Given the description of an element on the screen output the (x, y) to click on. 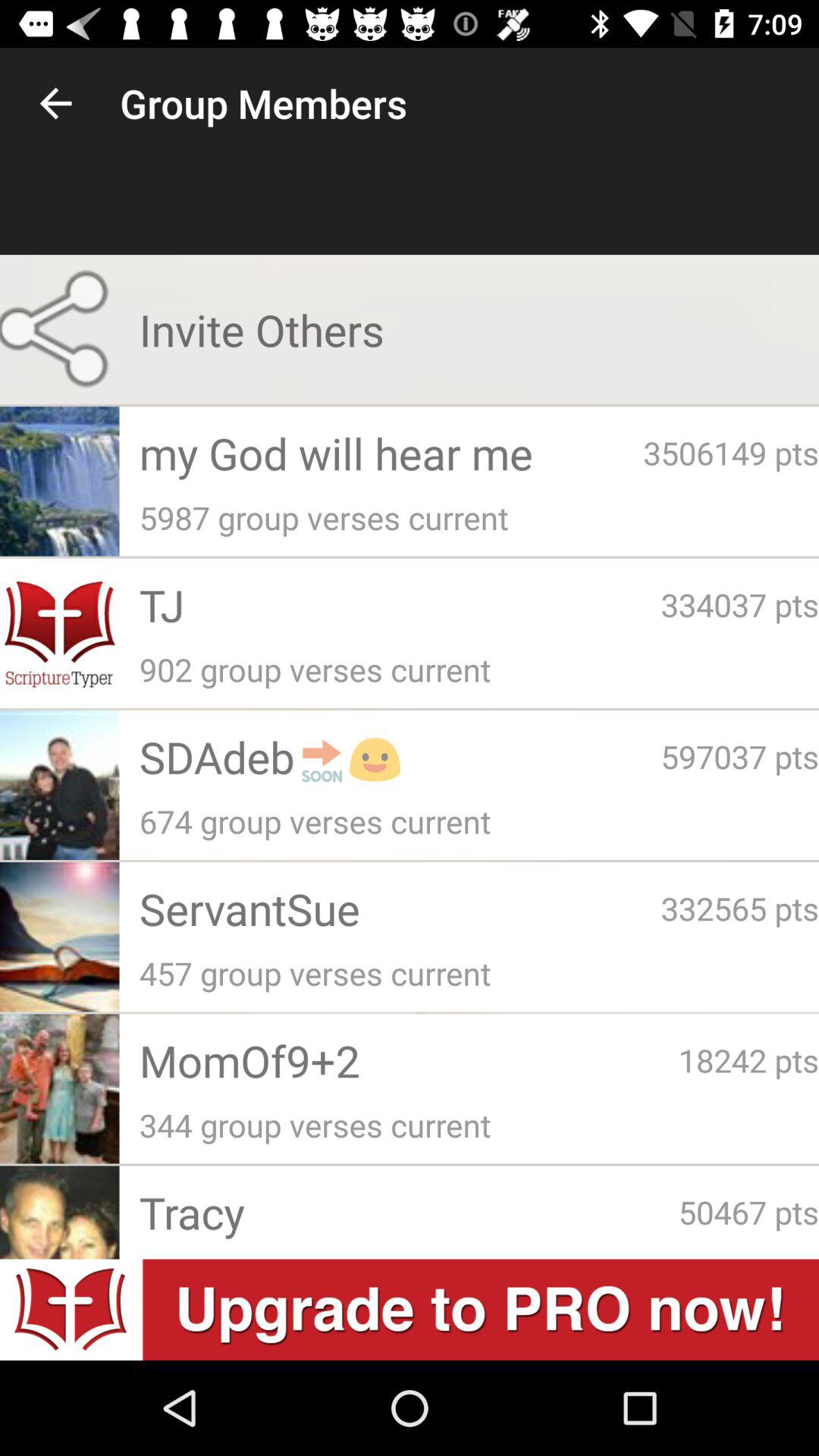
open item next to the momof9+2 app (748, 1059)
